Given the description of an element on the screen output the (x, y) to click on. 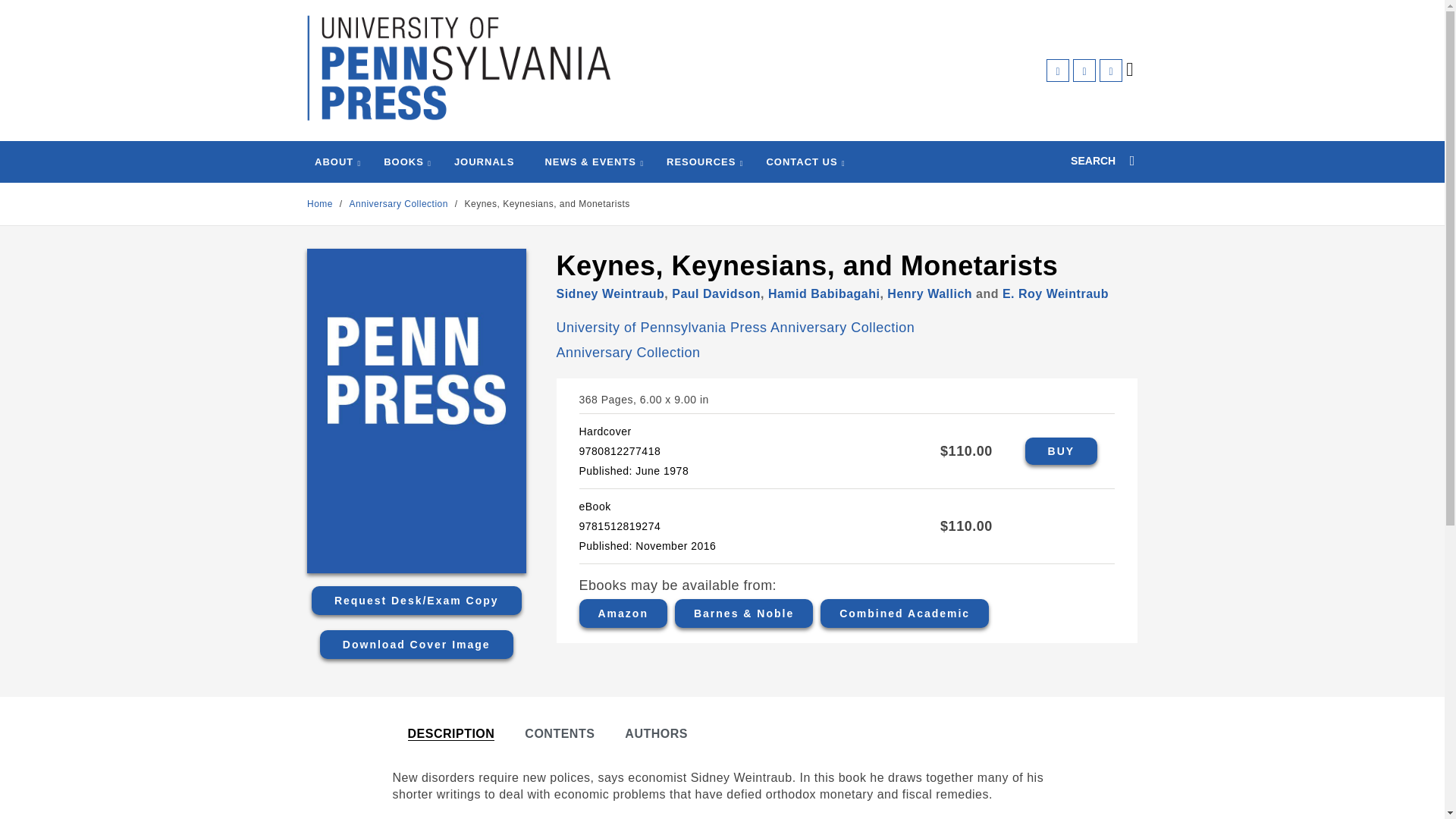
Follow us on Instagram (1110, 69)
Amazon (622, 613)
Back to homepage (320, 204)
View results for Anniversary Collection (400, 204)
BOOKS (403, 161)
Follow us on Facebook (1057, 69)
Hardcover (1061, 451)
ABOUT (333, 161)
JOURNALS (484, 161)
RESOURCES (700, 161)
Combined Academic (904, 613)
